Given the description of an element on the screen output the (x, y) to click on. 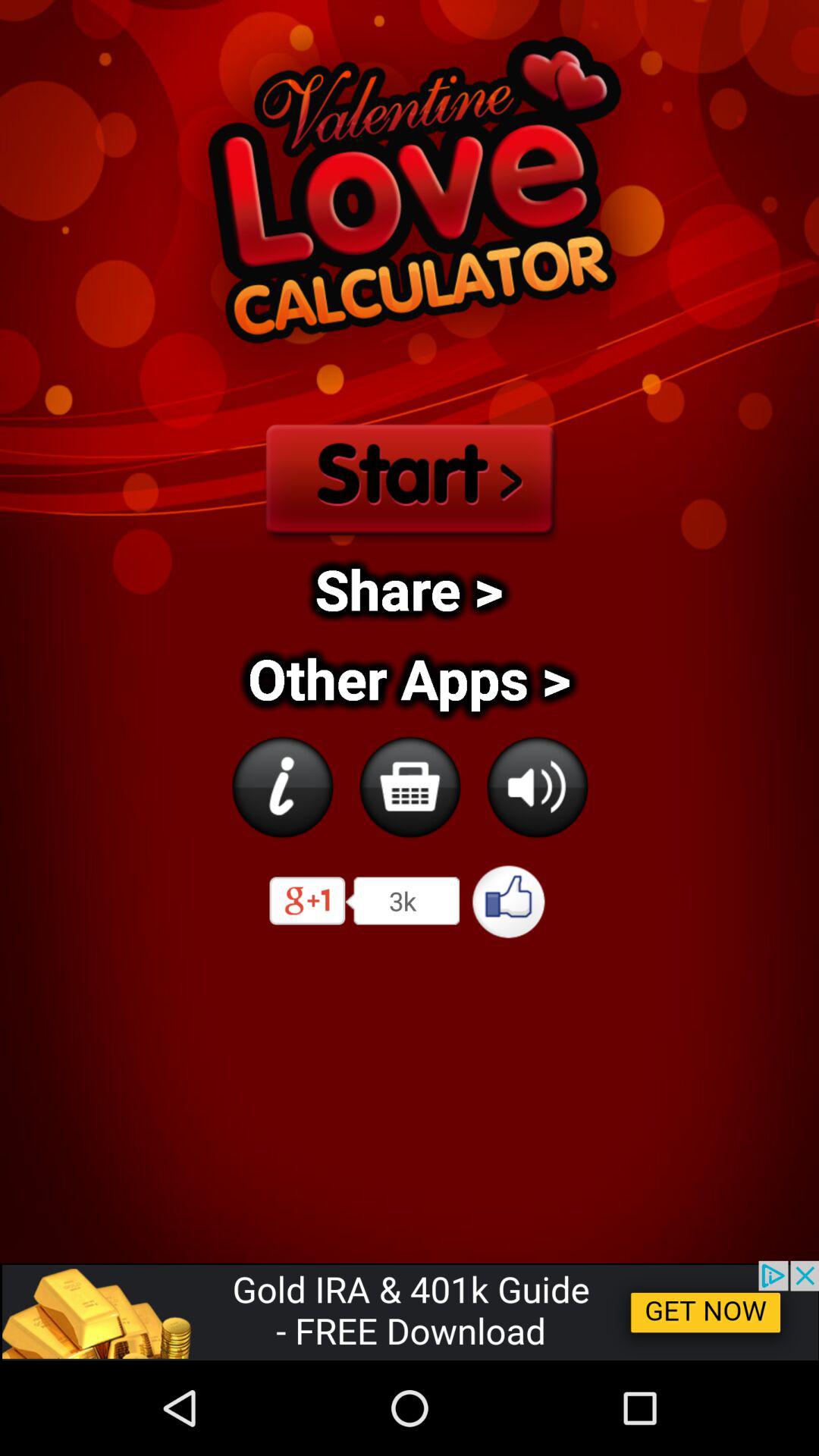
start button (408, 476)
